Given the description of an element on the screen output the (x, y) to click on. 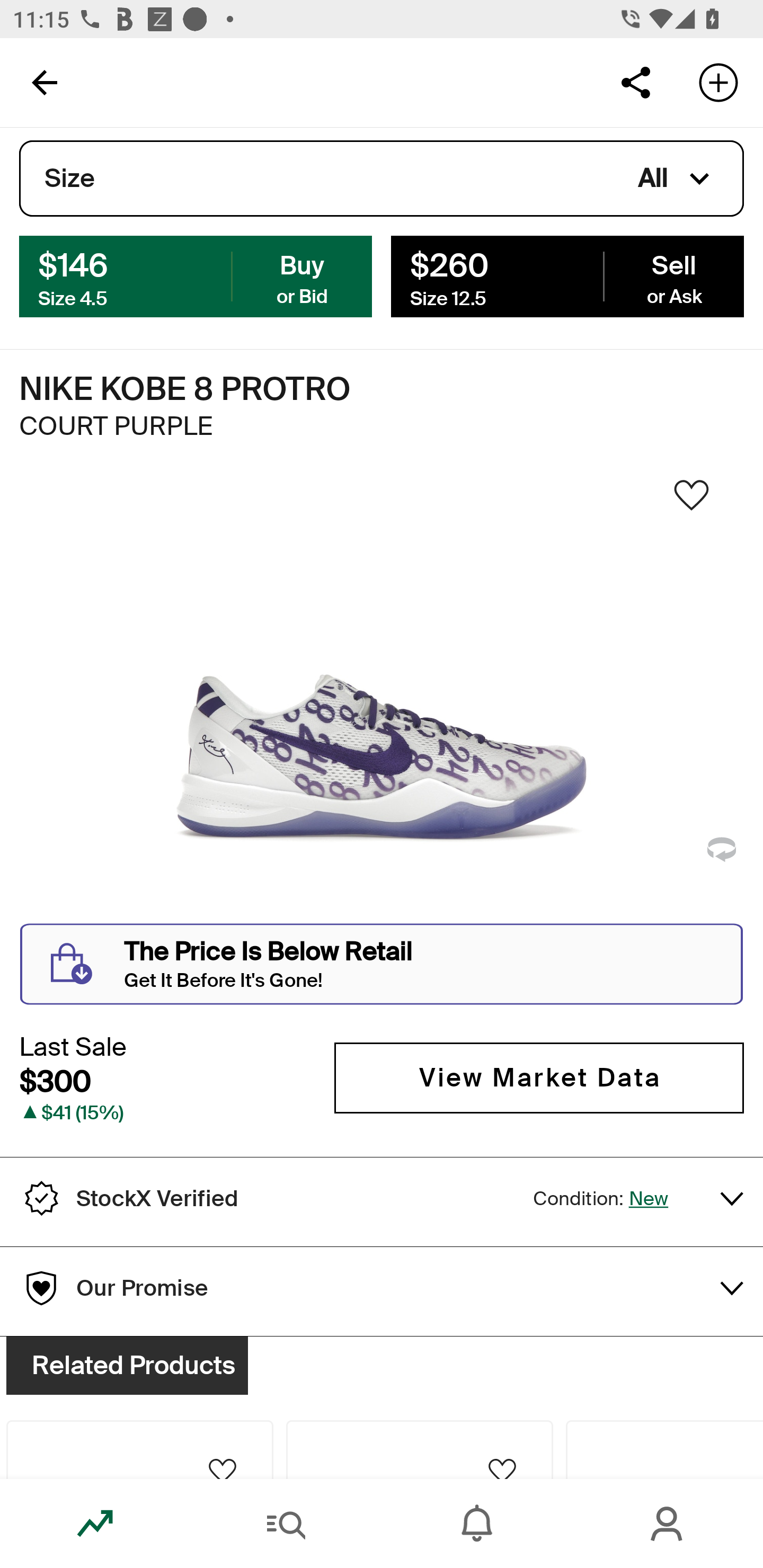
Share (635, 81)
Add (718, 81)
Size All (381, 178)
$146 Buy Size 4.5 or Bid (195, 275)
$260 Sell Size 12.5 or Ask (566, 275)
Sneaker Image (381, 699)
View Market Data (538, 1077)
Search (285, 1523)
Inbox (476, 1523)
Account (667, 1523)
